Given the description of an element on the screen output the (x, y) to click on. 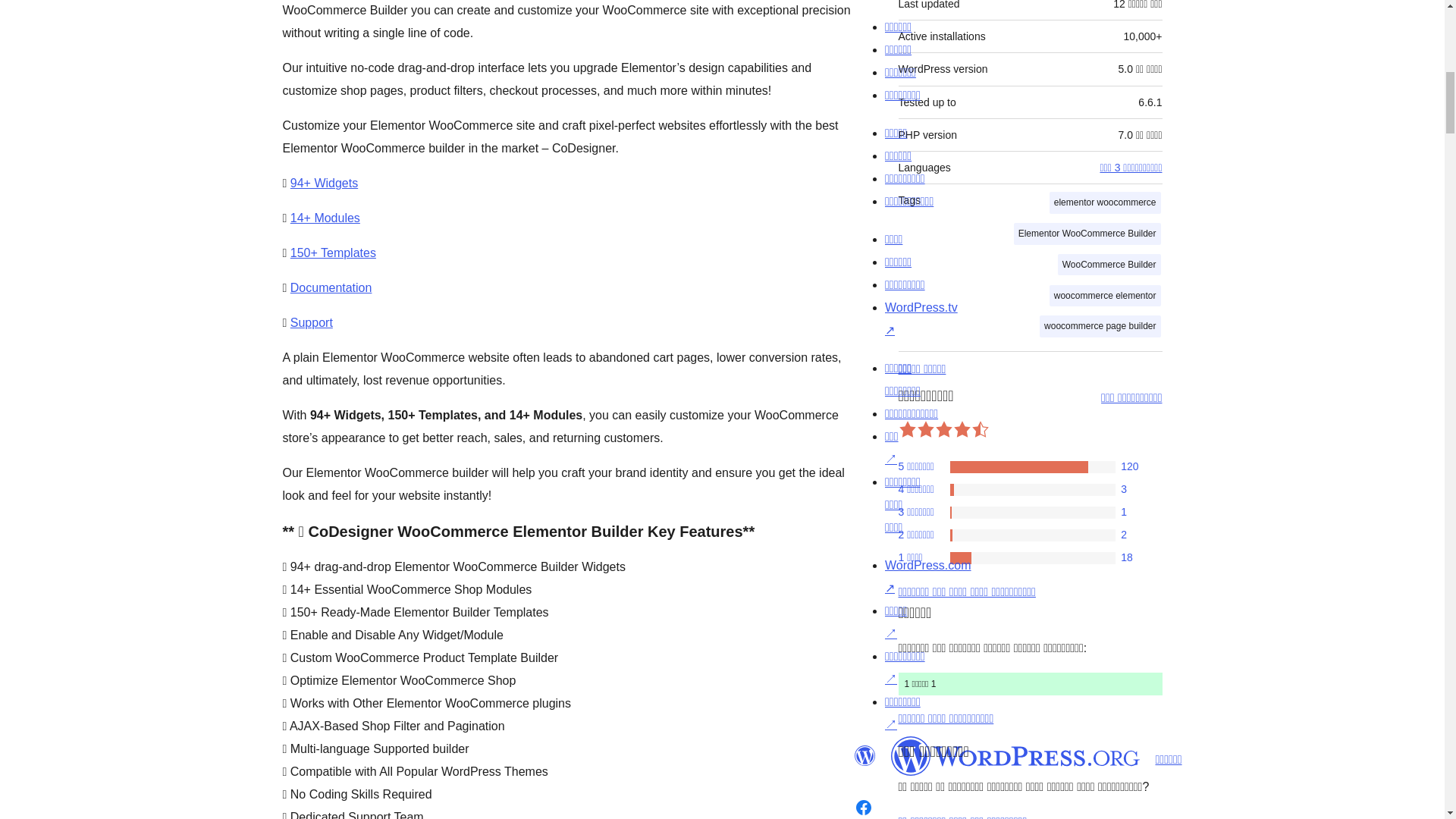
Support (311, 322)
WordPress.org (864, 755)
Documentation (330, 287)
WordPress.org (1014, 755)
